Given the description of an element on the screen output the (x, y) to click on. 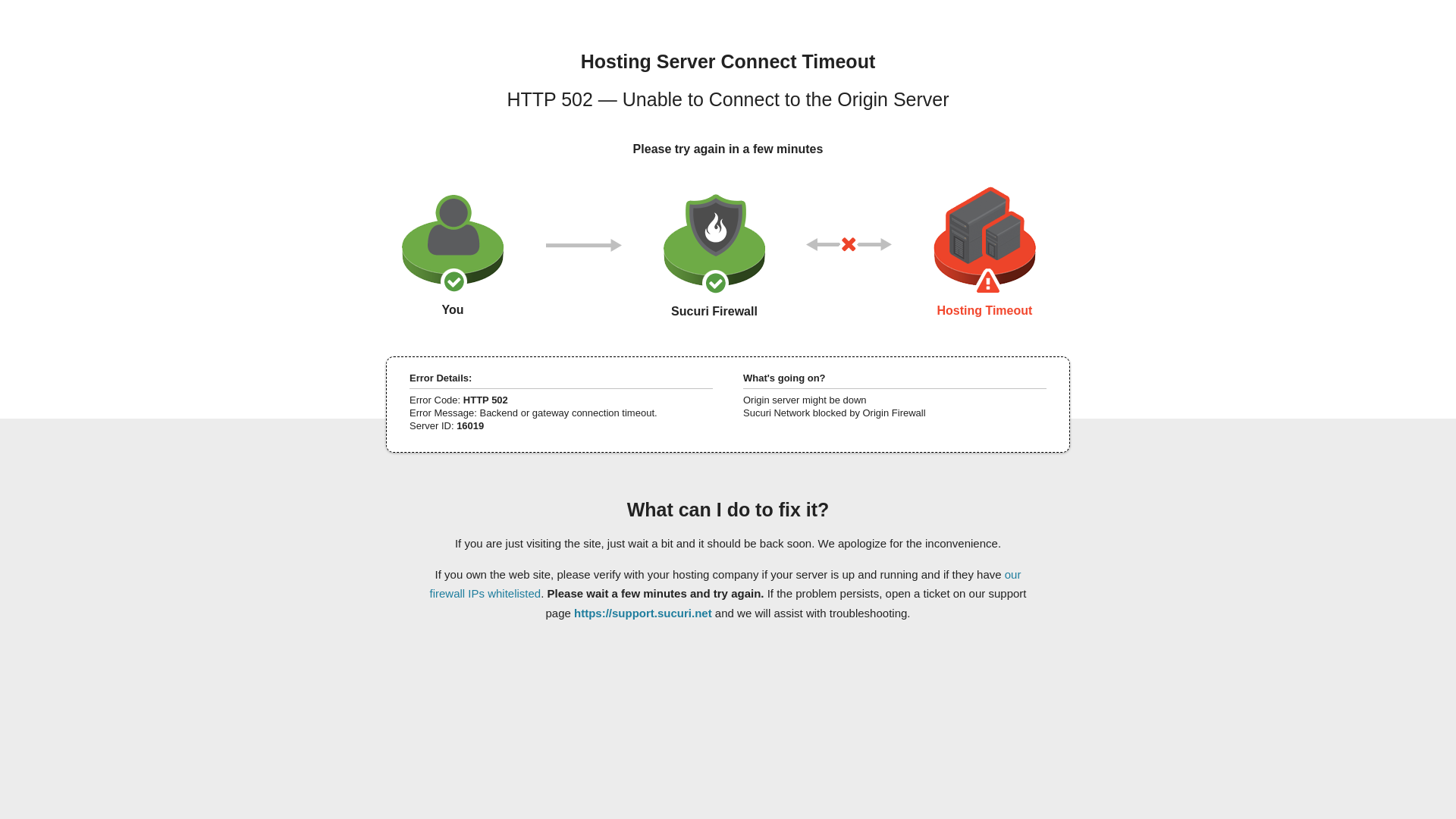
our firewall IPs whitelisted (724, 583)
